Given the description of an element on the screen output the (x, y) to click on. 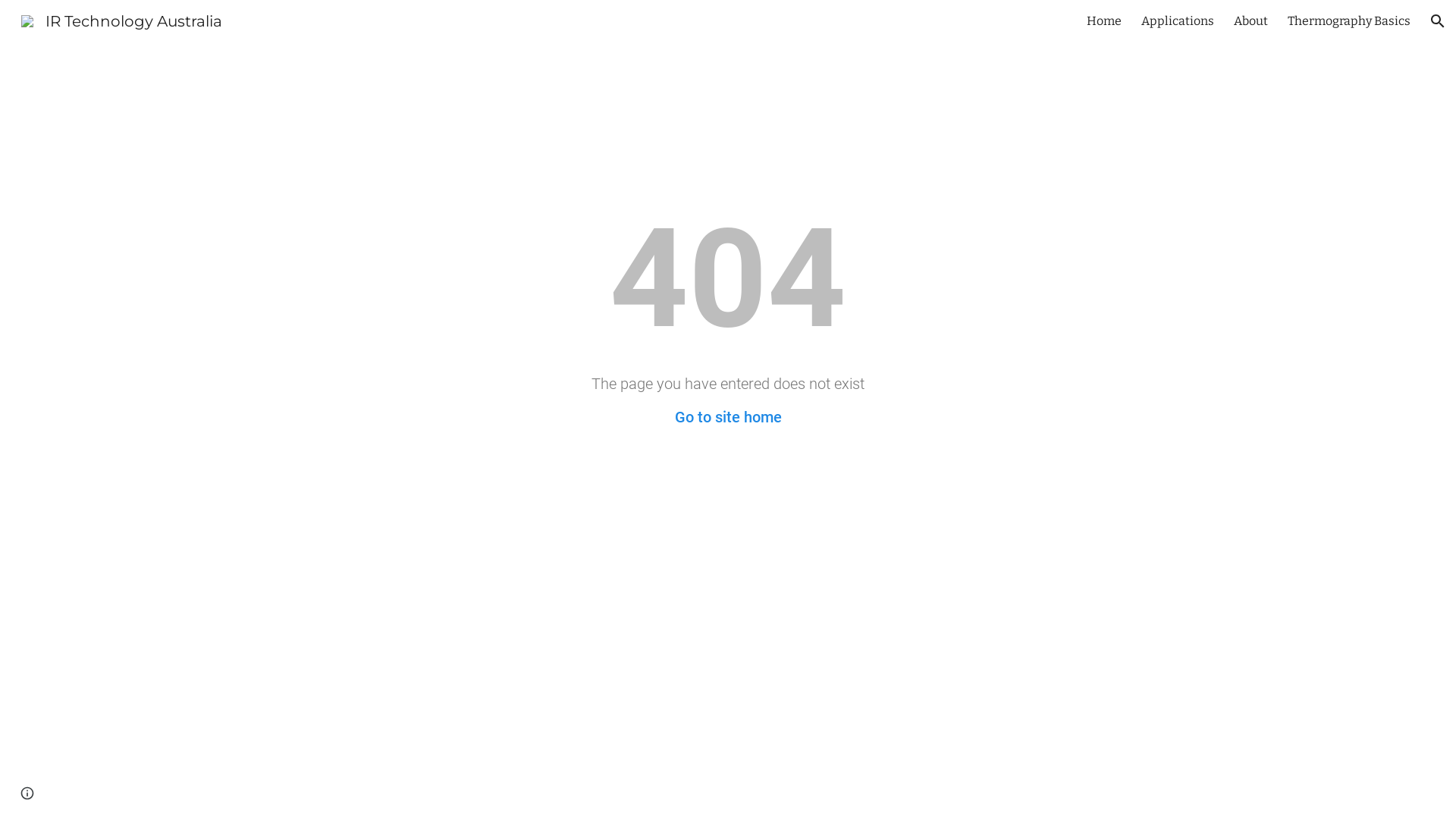
Applications Element type: text (1177, 20)
IR Technology Australia Element type: text (121, 19)
Thermography Basics Element type: text (1348, 20)
Go to site home Element type: text (727, 416)
Home Element type: text (1103, 20)
About Element type: text (1250, 20)
